Given the description of an element on the screen output the (x, y) to click on. 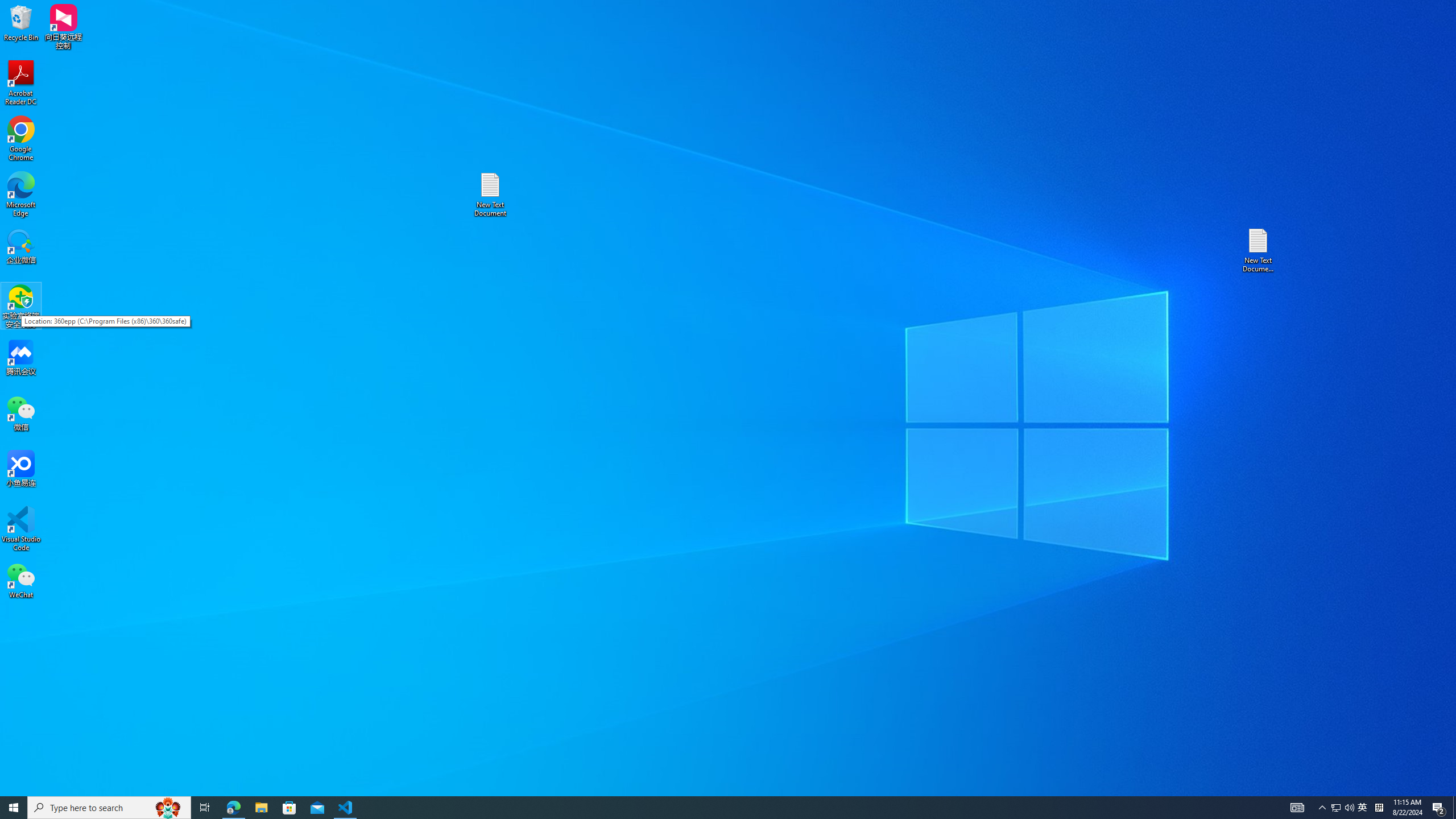
Action Center, 2 new notifications (1439, 807)
AutomationID: 4105 (1297, 807)
New Text Document (2) (1258, 250)
Tray Input Indicator - Chinese (Simplified, China) (1378, 807)
Q2790: 100% (1349, 807)
Visual Studio Code - 1 running window (345, 807)
Microsoft Store (289, 807)
Visual Studio Code (21, 528)
Type here to search (108, 807)
Acrobat Reader DC (21, 82)
Notification Chevron (1322, 807)
Google Chrome (21, 138)
Microsoft Edge - 1 running window (233, 807)
